Given the description of an element on the screen output the (x, y) to click on. 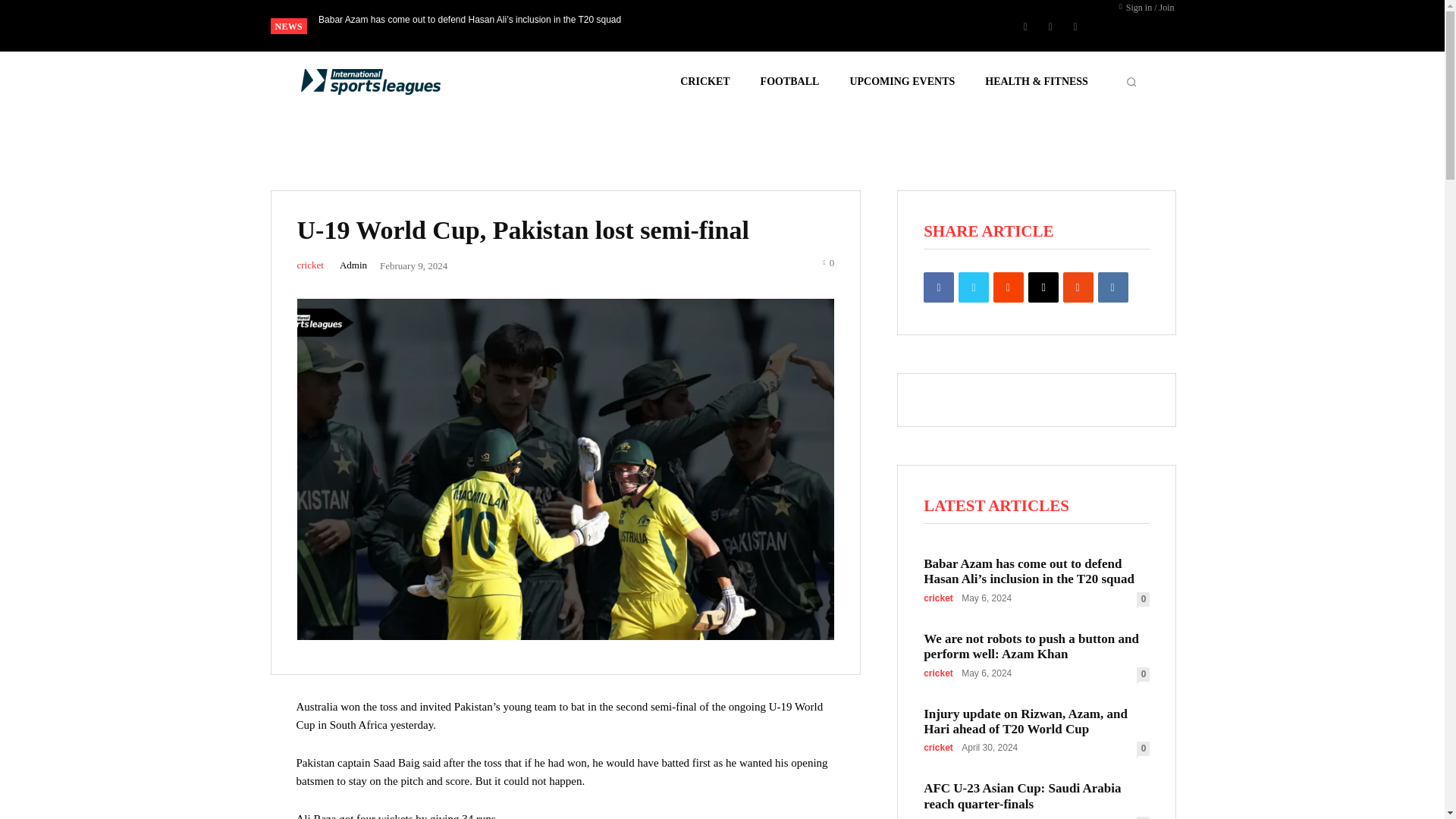
FOOTBALL (789, 81)
UPCOMING EVENTS (901, 81)
Facebook (1024, 25)
cricket (310, 265)
Twitter (1075, 25)
Admin (352, 265)
0 (828, 260)
Instagram (1050, 25)
